Given the description of an element on the screen output the (x, y) to click on. 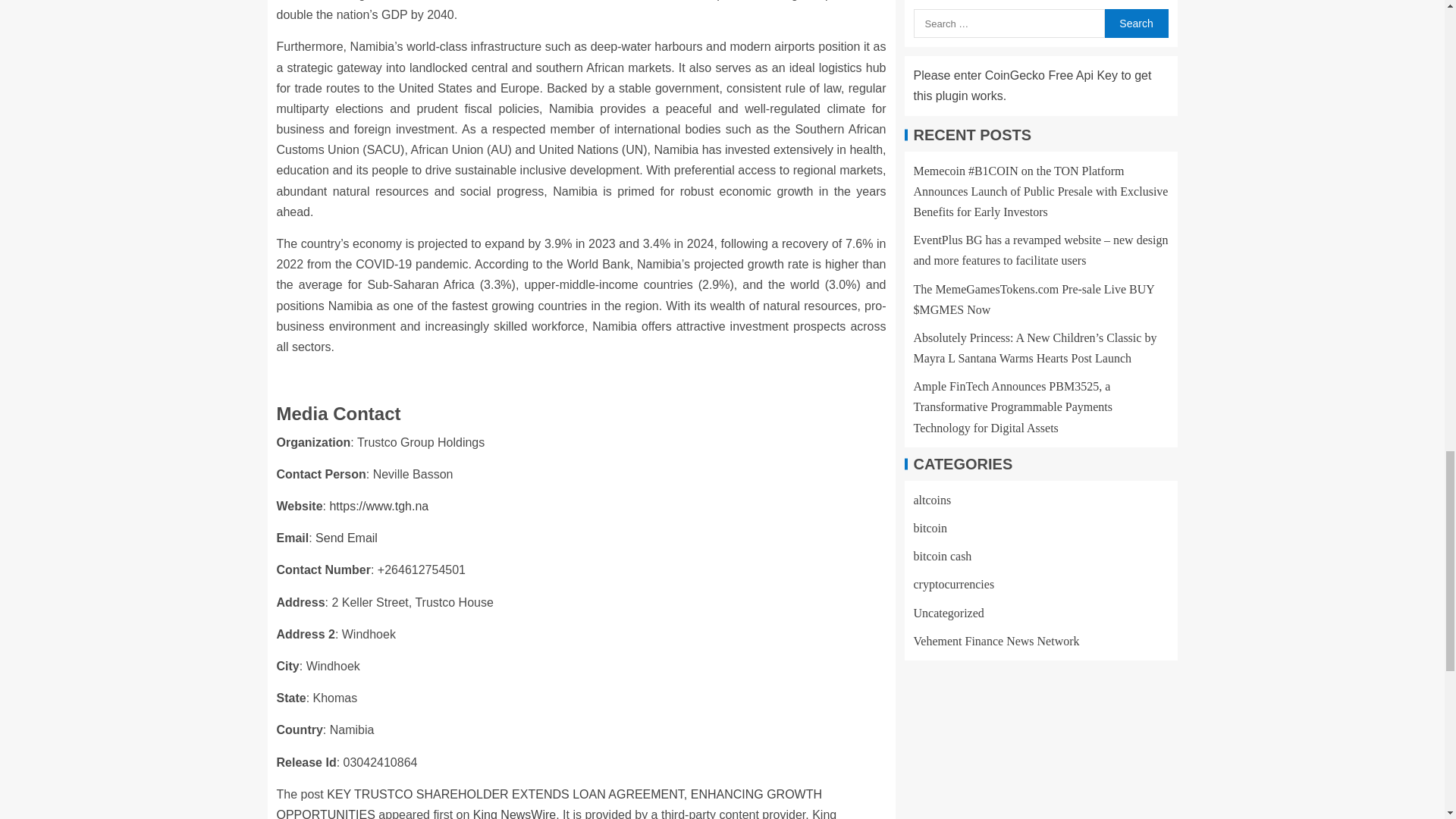
King NewsWire (514, 813)
Send Email (346, 537)
